Given the description of an element on the screen output the (x, y) to click on. 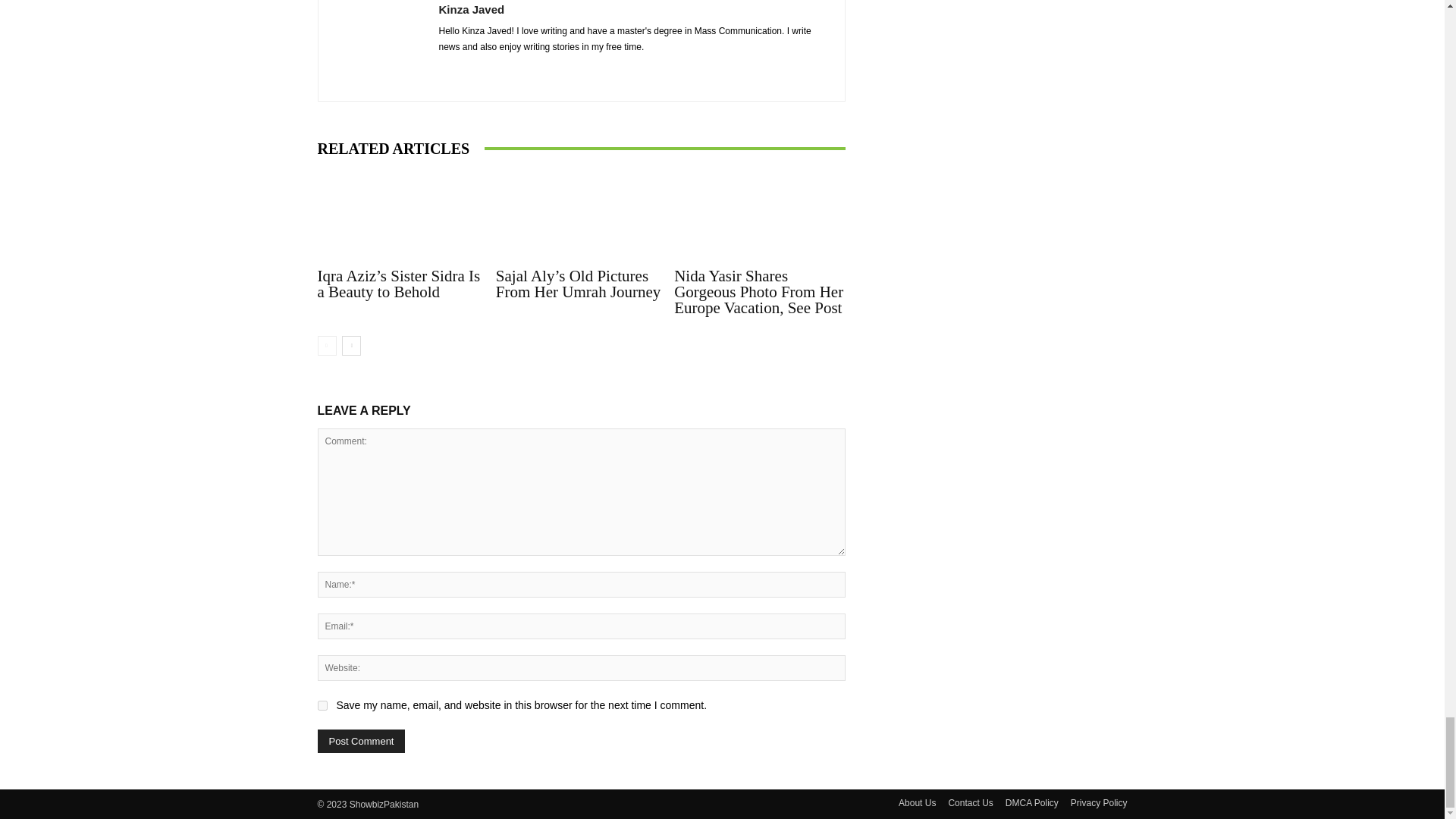
Post Comment (360, 740)
yes (321, 705)
